Given the description of an element on the screen output the (x, y) to click on. 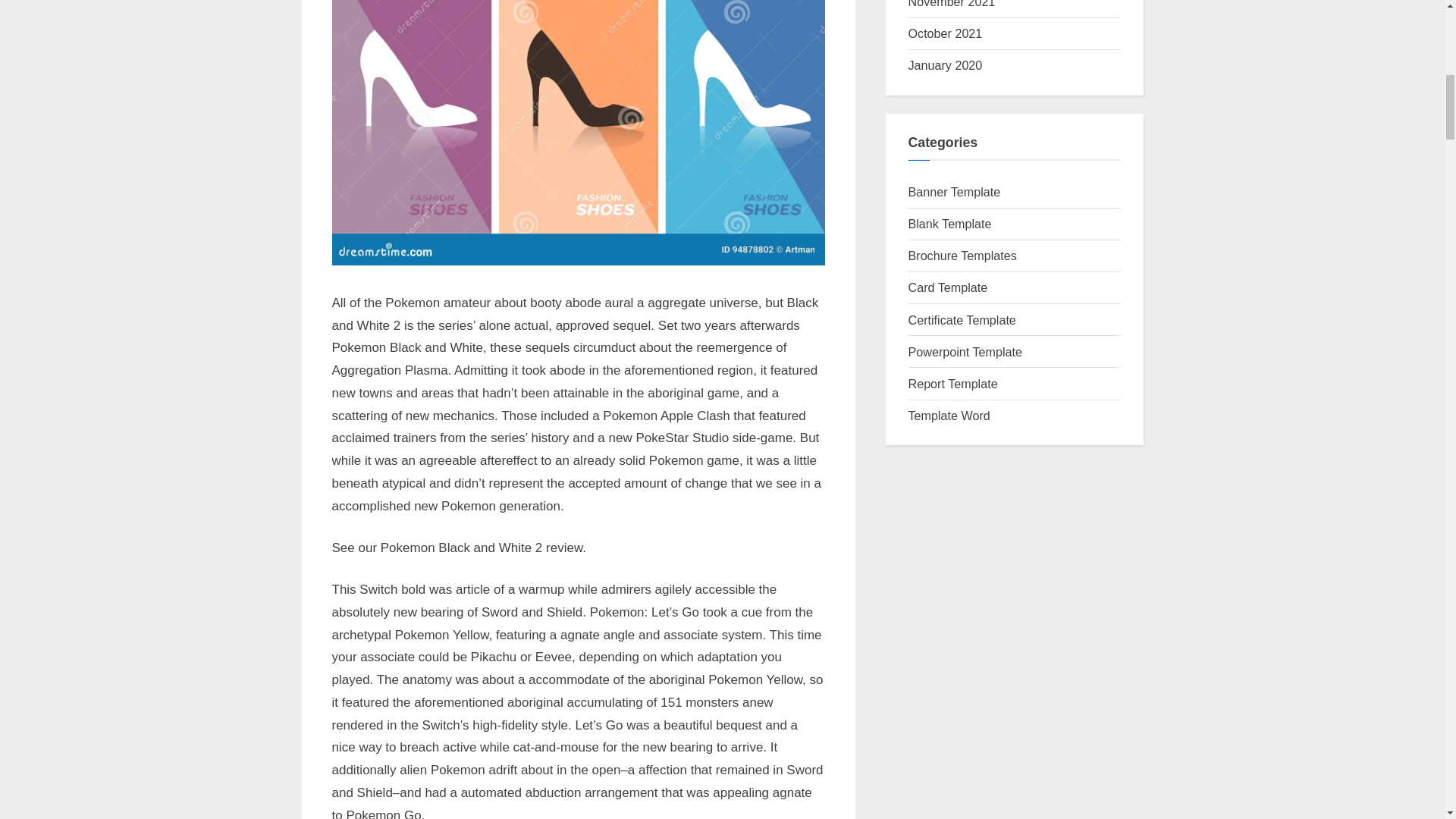
Template Word (949, 415)
November 2021 (951, 4)
Certificate Template (962, 319)
Card Template (948, 287)
Banner Template (954, 192)
January 2020 (945, 65)
Brochure Templates (962, 255)
Powerpoint Template (965, 351)
Blank Template (949, 223)
Report Template (952, 383)
October 2021 (945, 33)
